Given the description of an element on the screen output the (x, y) to click on. 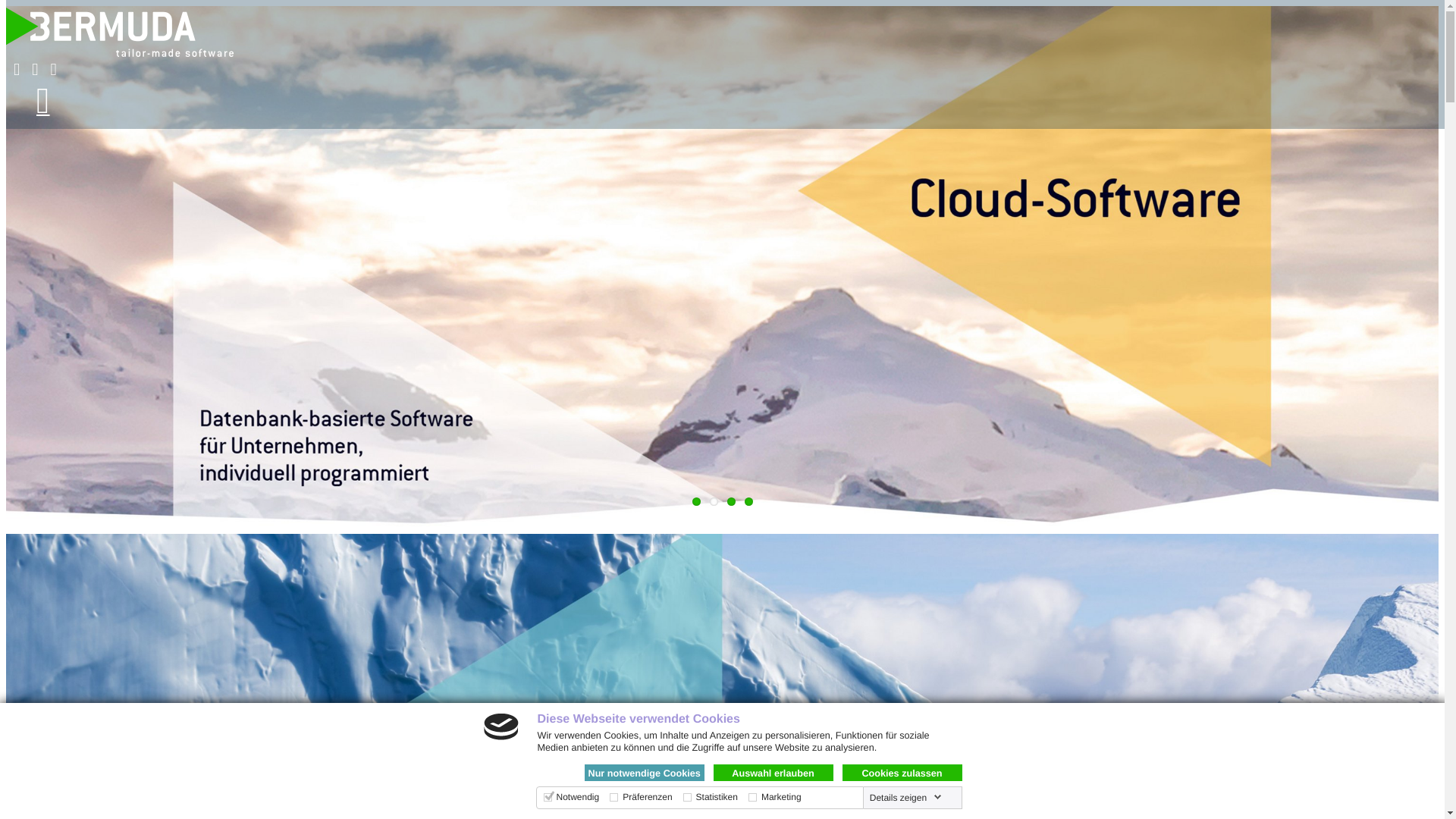
Details zeigen Element type: text (905, 797)
Nur notwendige Cookies Element type: text (643, 772)
2 Element type: text (713, 501)
Cookies zulassen Element type: text (901, 772)
3 Element type: text (730, 501)
4 Element type: text (748, 501)
Auswahl erlauben Element type: text (772, 772)
1 Element type: text (695, 501)
